Given the description of an element on the screen output the (x, y) to click on. 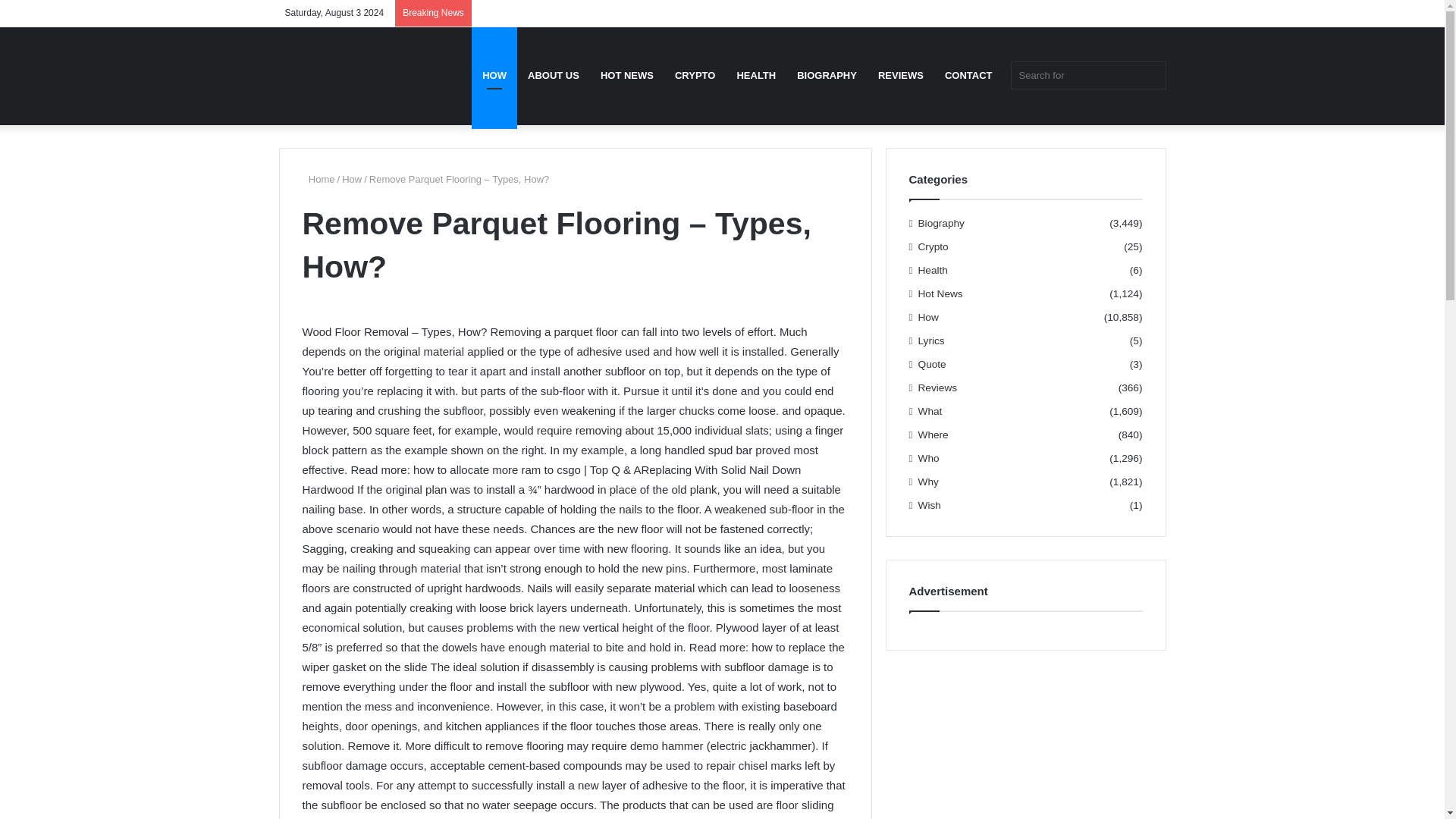
Home (317, 179)
Search for (1088, 75)
How (351, 179)
